Given the description of an element on the screen output the (x, y) to click on. 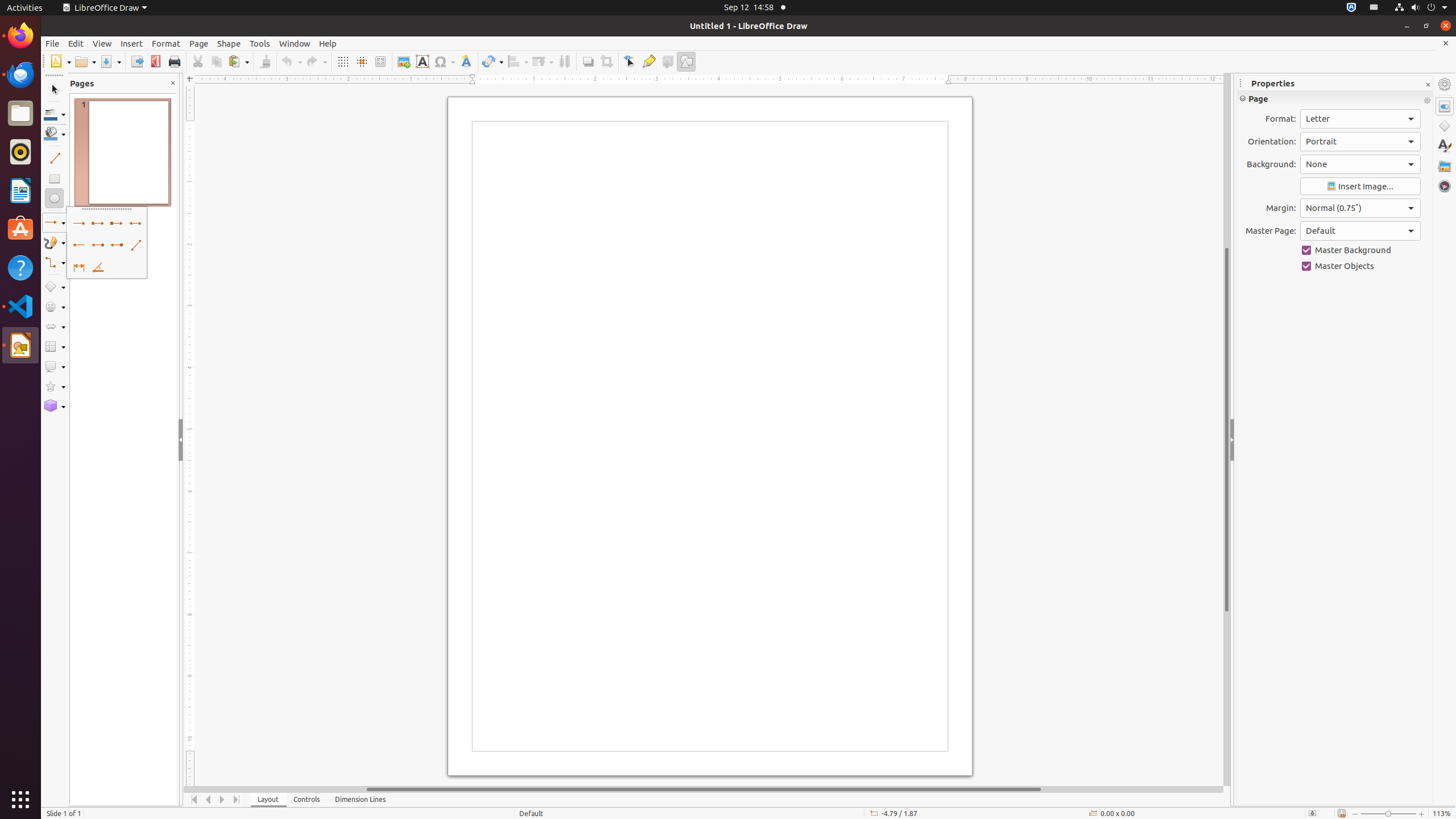
Line Color Element type: push-button (54, 113)
Rhythmbox Element type: push-button (20, 151)
Move To Home Element type: push-button (194, 799)
File Element type: menu (51, 43)
:1.72/StatusNotifierItem Element type: menu (1350, 7)
